Given the description of an element on the screen output the (x, y) to click on. 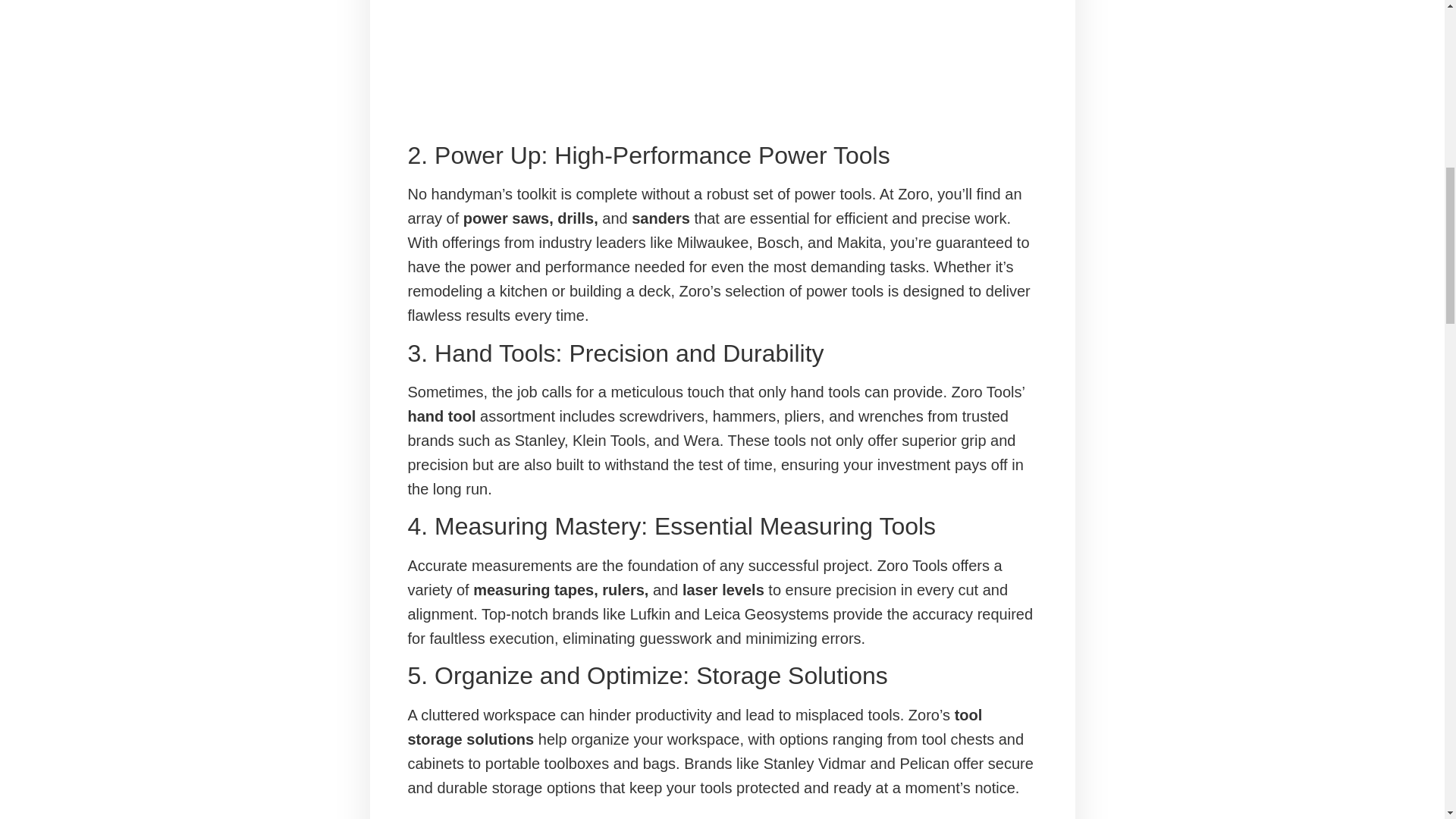
2. Power Up: High-Performance Power Tools (721, 154)
4. Measuring Mastery: Essential Measuring Tools (721, 525)
Advertisement (721, 63)
5. Organize and Optimize: Storage Solutions (721, 675)
3. Hand Tools: Precision and Durability (721, 353)
